Given the description of an element on the screen output the (x, y) to click on. 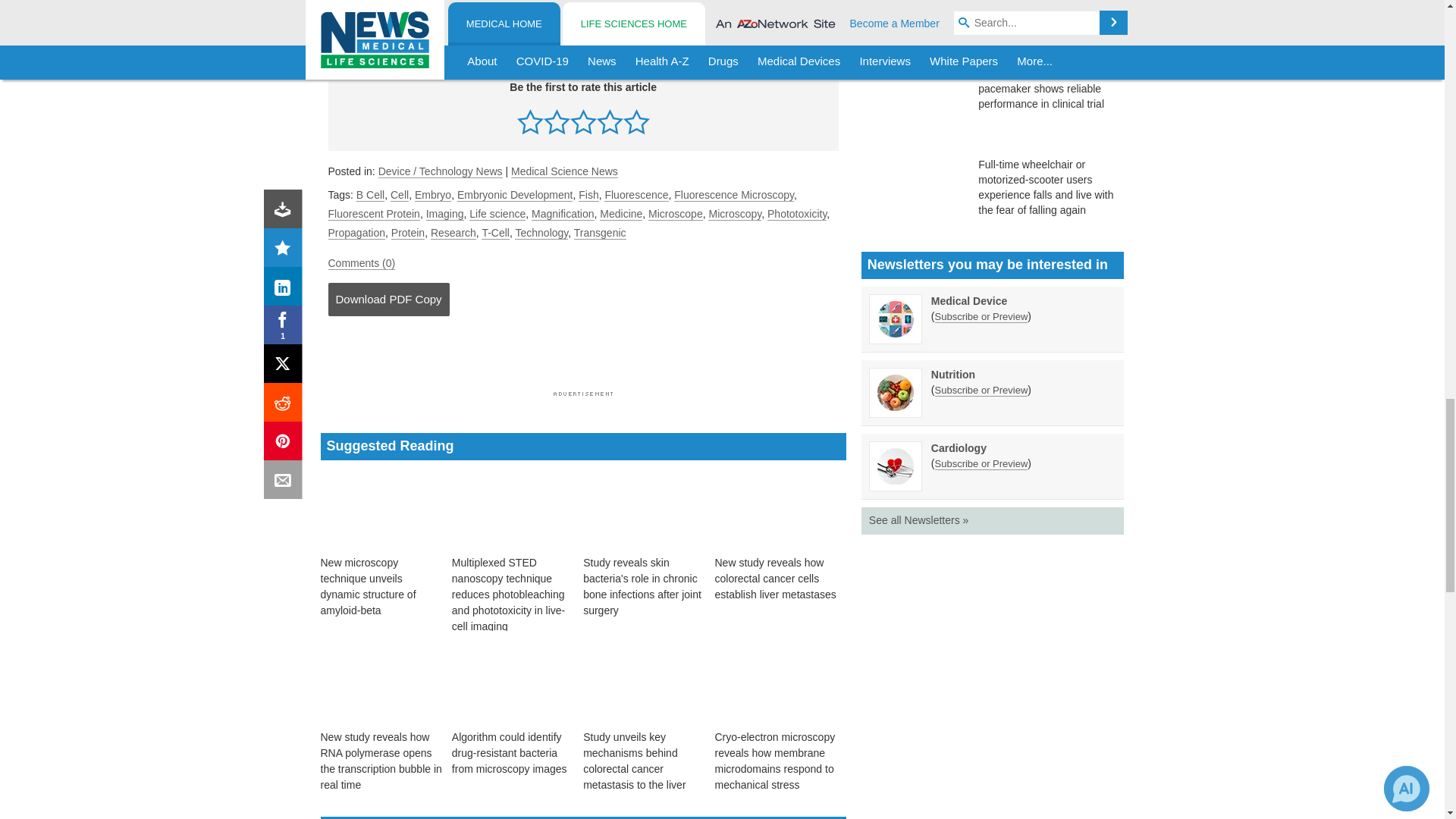
Rate this 5 stars out of 5 (636, 121)
Rate this 4 stars out of 5 (609, 121)
